Given the description of an element on the screen output the (x, y) to click on. 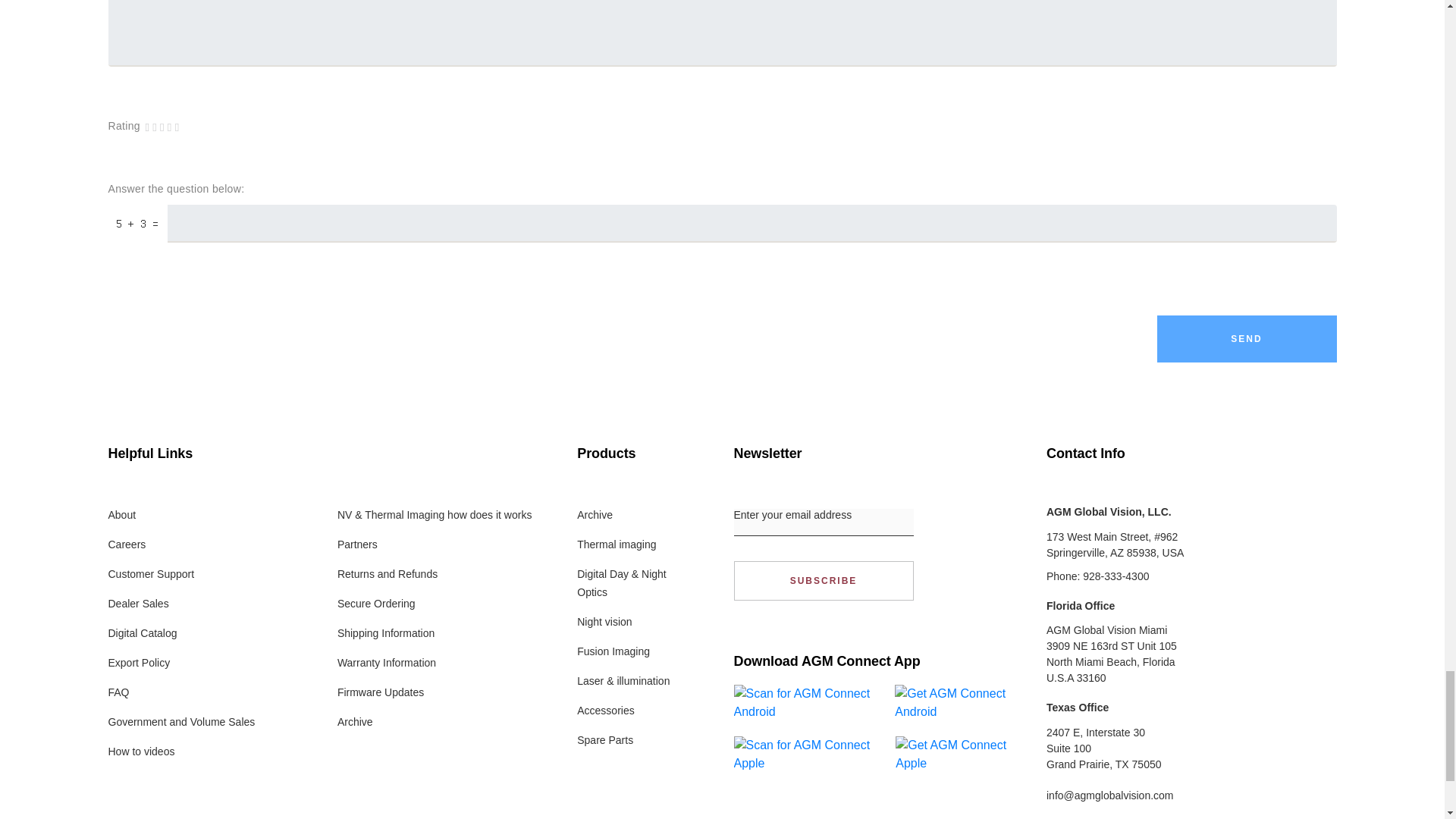
Scan for AGM Connect Android (808, 702)
Get AGM Connect Apple (959, 754)
Scan for AGM Connect Apple (809, 754)
Get AGM Connect Android (959, 702)
Subscribe (823, 580)
